Given the description of an element on the screen output the (x, y) to click on. 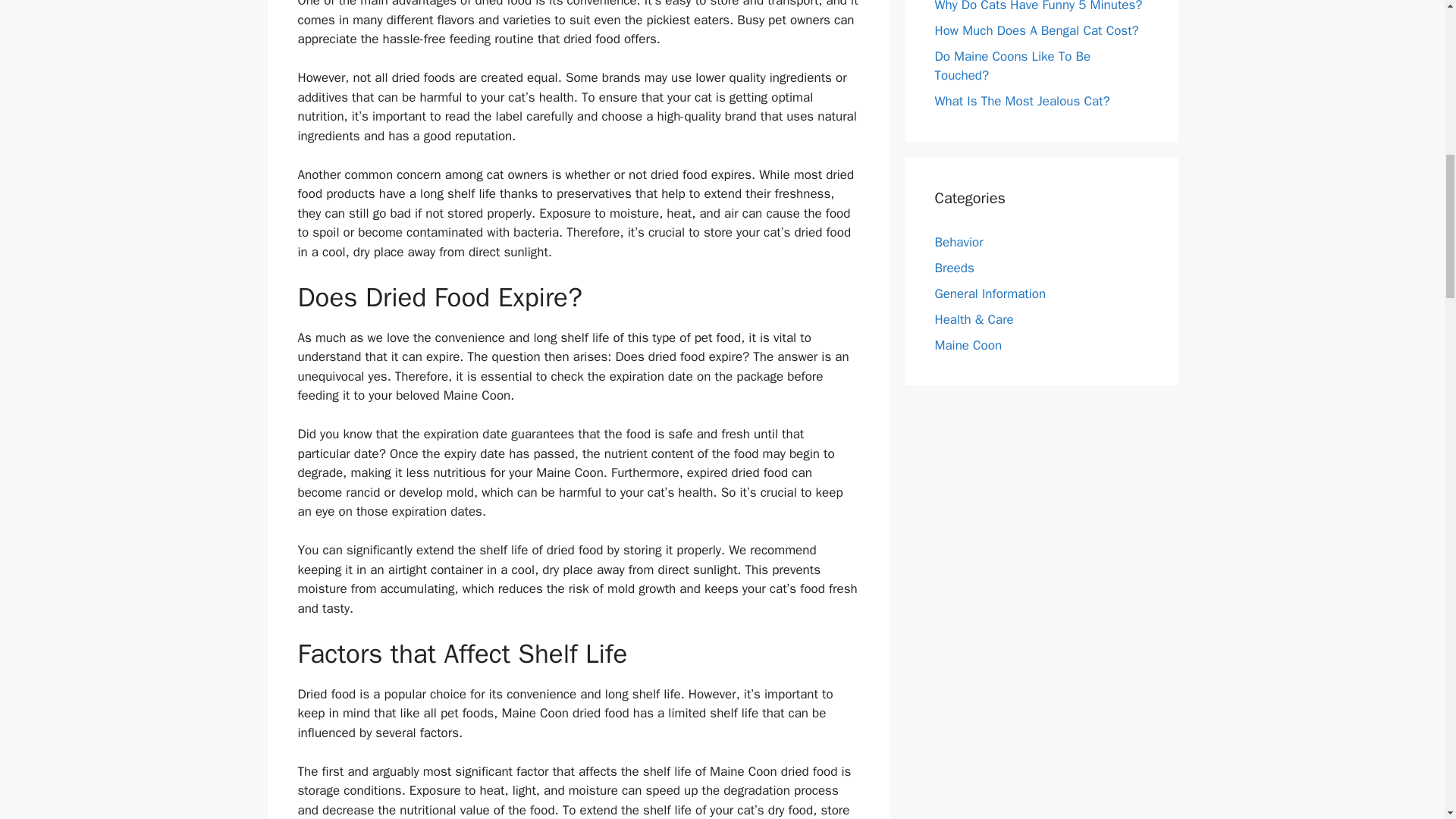
Do Maine Coons Like To Be Touched? (1012, 66)
Behavior (958, 242)
How Much Does A Bengal Cat Cost? (1036, 30)
General Information (989, 293)
What Is The Most Jealous Cat? (1021, 100)
Why Do Cats Have Funny 5 Minutes? (1037, 6)
Breeds (954, 268)
Scroll back to top (1406, 720)
